Given the description of an element on the screen output the (x, y) to click on. 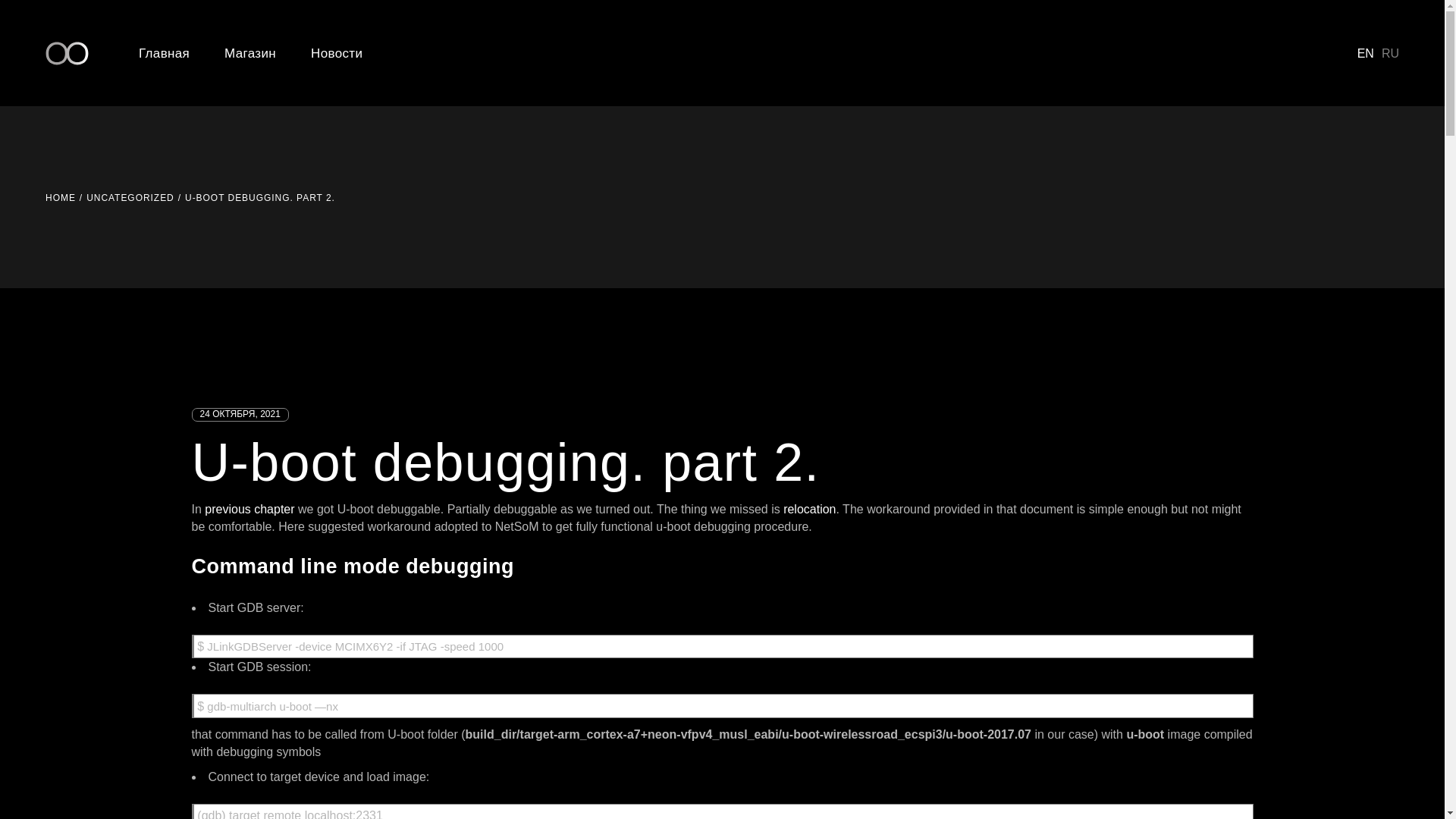
relocation (809, 508)
previous chapter (249, 508)
UNCATEGORIZED (129, 197)
RU (1390, 52)
HOME (60, 197)
EN (1365, 52)
